Given the description of an element on the screen output the (x, y) to click on. 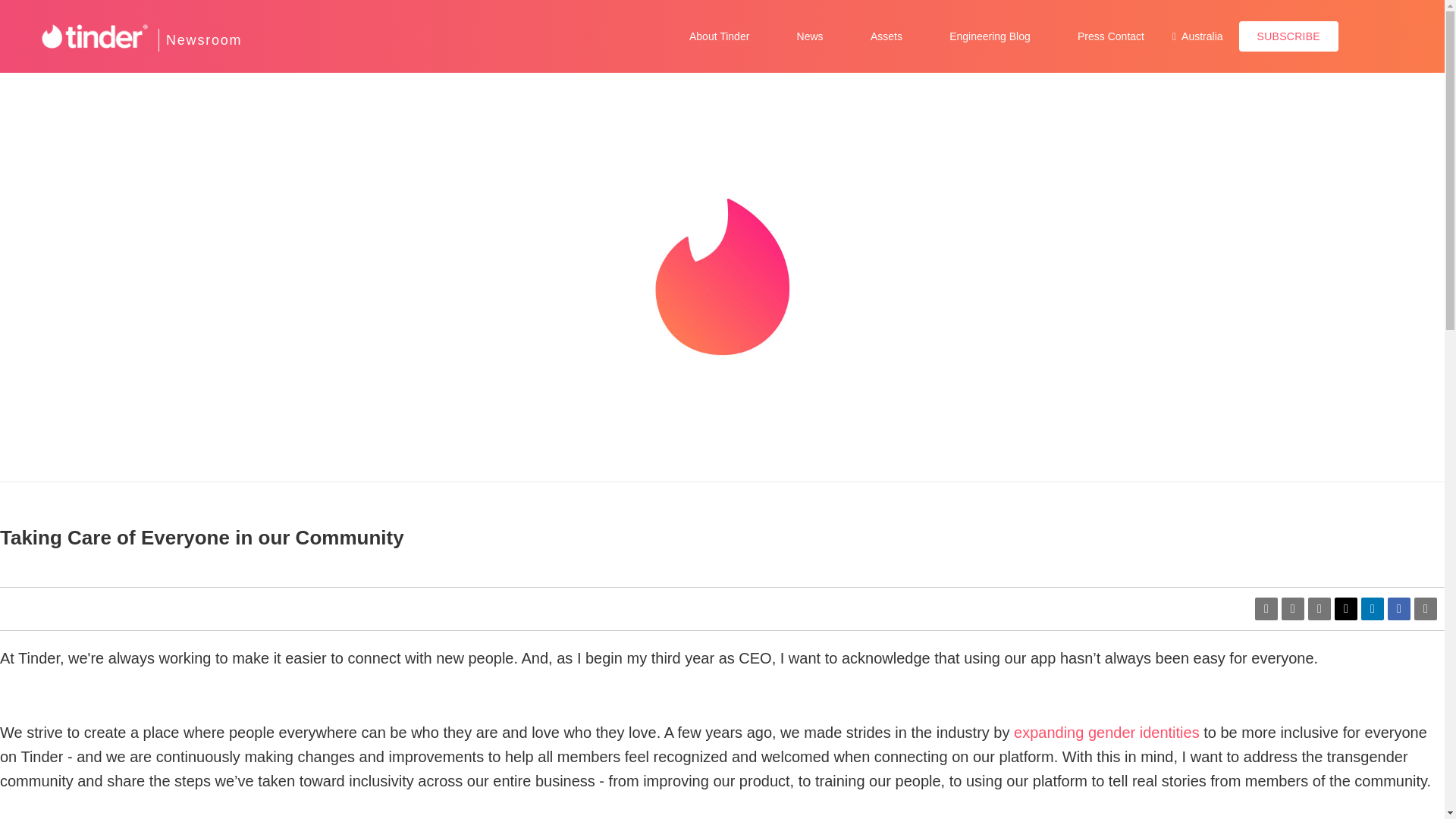
Facebook Share (1398, 608)
Press Contact (1110, 36)
Linkedin Share (1372, 608)
Twitter Share (1345, 608)
SUBSCRIBE (1288, 36)
About Tinder (718, 36)
email (1318, 608)
pdf (1266, 608)
News (810, 36)
rss (1292, 608)
Newsroom (203, 39)
Assets (886, 36)
print (1425, 608)
Engineering Blog (989, 36)
